Given the description of an element on the screen output the (x, y) to click on. 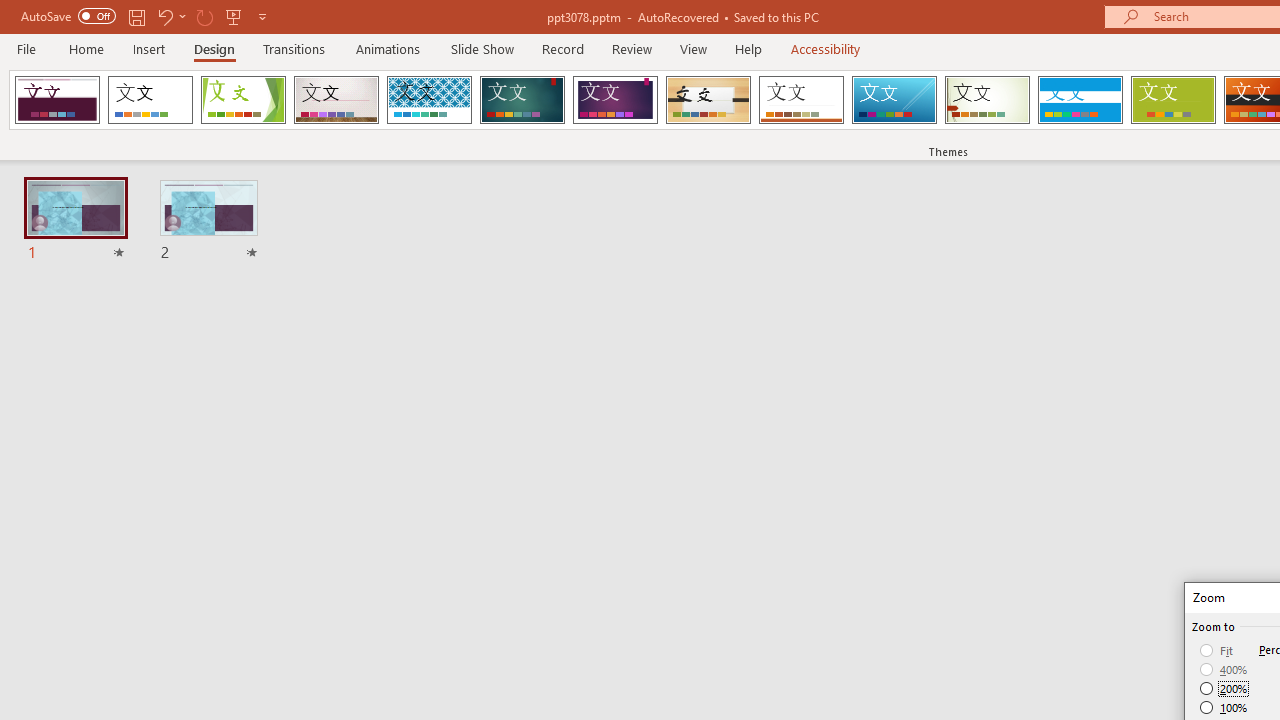
Ion Boardroom (615, 100)
Slice (893, 100)
Facet (243, 100)
100% (1224, 707)
Organic (708, 100)
Banded (1080, 100)
